Given the description of an element on the screen output the (x, y) to click on. 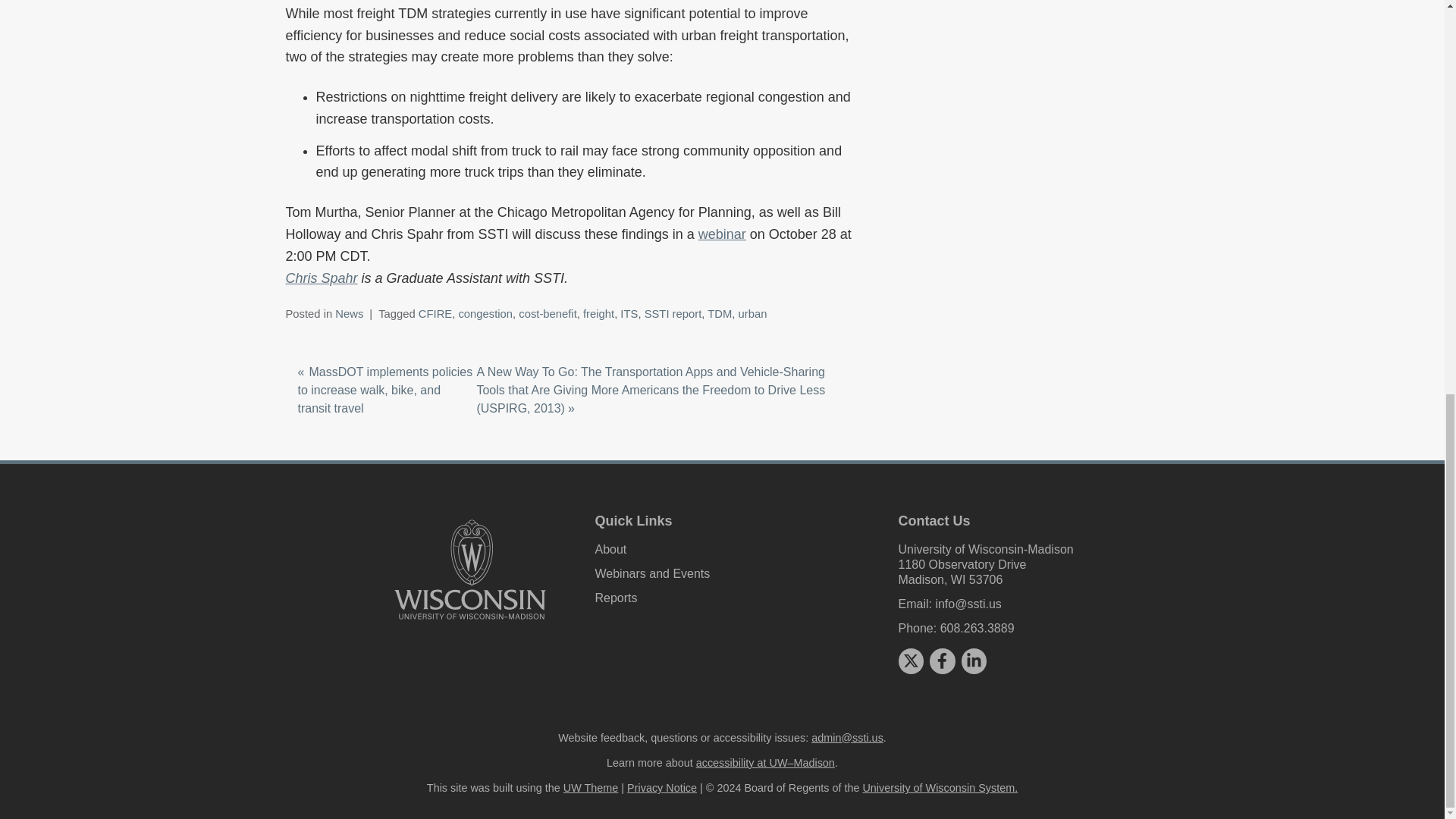
CFIRE (435, 313)
facebook (941, 660)
University logo that links to main university website (470, 569)
freight (598, 313)
linkedin (973, 660)
congestion (485, 313)
webinar (721, 233)
News (348, 313)
cost-benefit (547, 313)
Chris Spahr (320, 278)
x twitter (910, 660)
ITS (628, 313)
